Given the description of an element on the screen output the (x, y) to click on. 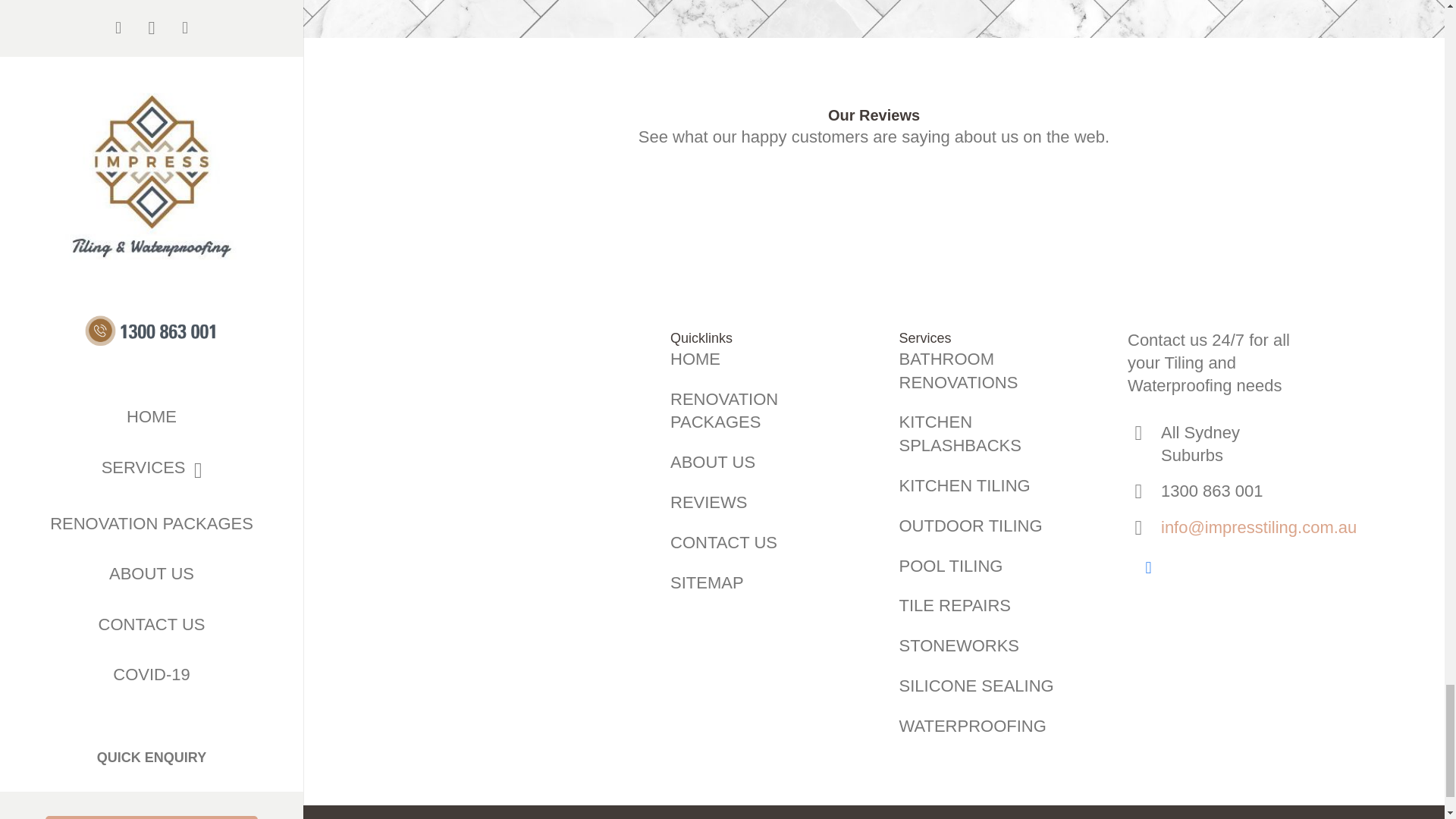
Facebook (1147, 567)
